Given the description of an element on the screen output the (x, y) to click on. 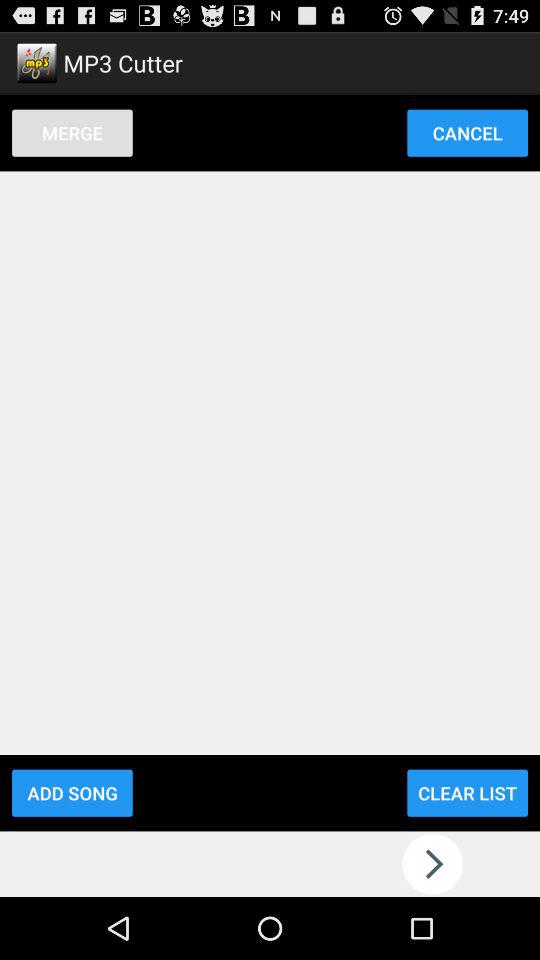
open the clear list icon (467, 792)
